Given the description of an element on the screen output the (x, y) to click on. 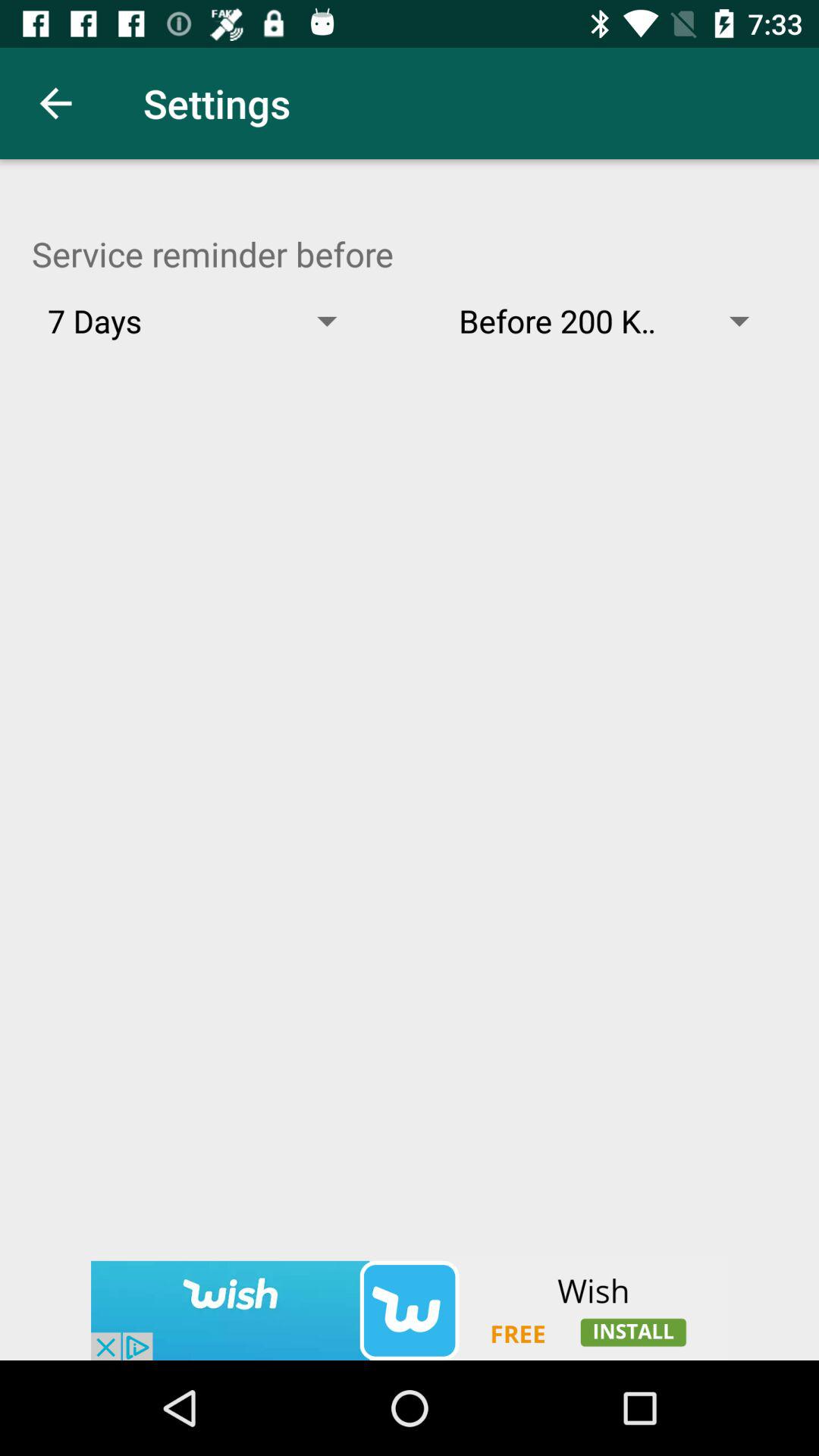
advertisement (409, 1310)
